Given the description of an element on the screen output the (x, y) to click on. 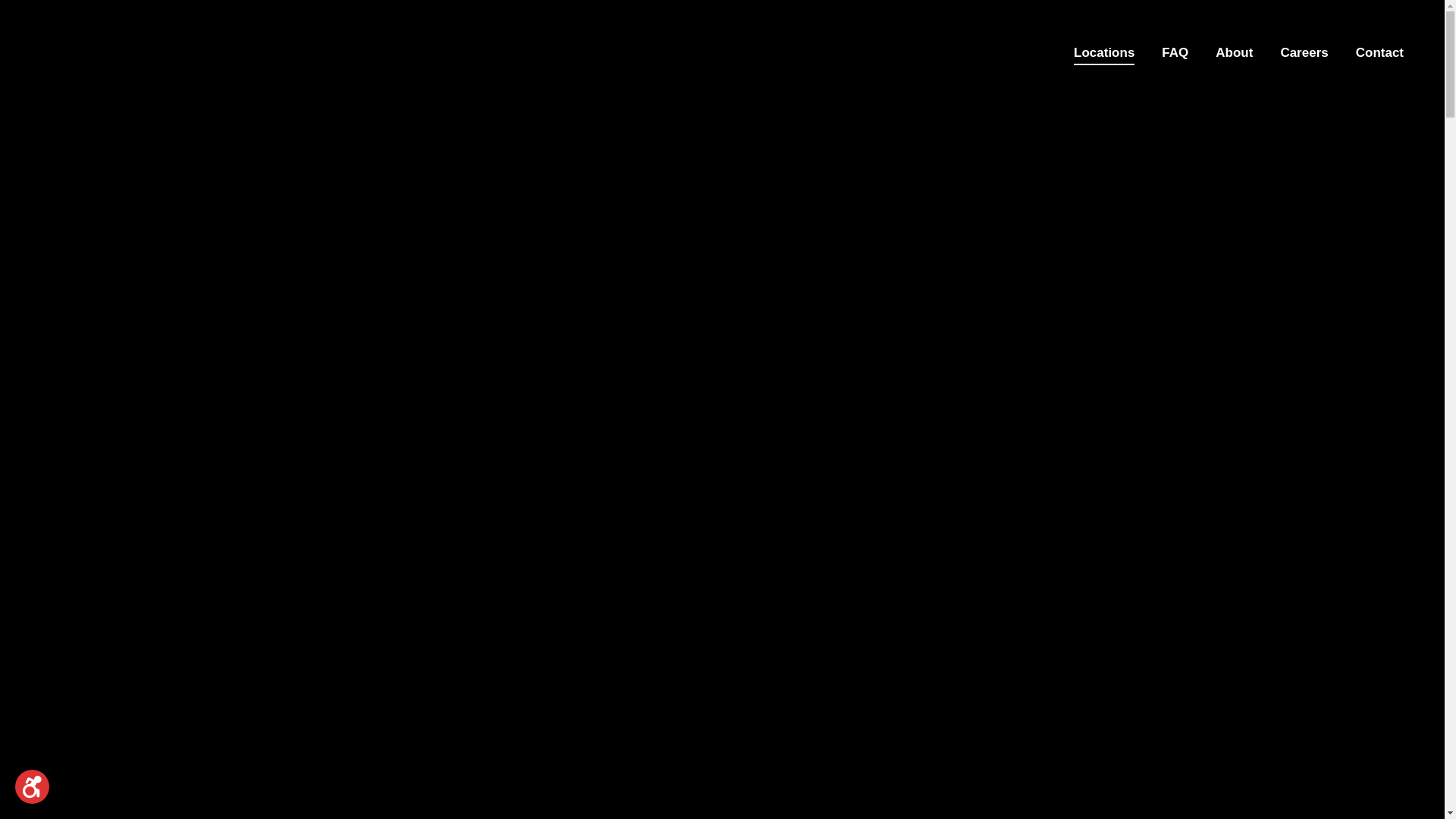
Careers Element type: text (1303, 52)
FAQ Element type: text (1174, 52)
Contact Element type: text (1379, 52)
Locations Element type: text (1103, 52)
About Element type: text (1233, 52)
